Given the description of an element on the screen output the (x, y) to click on. 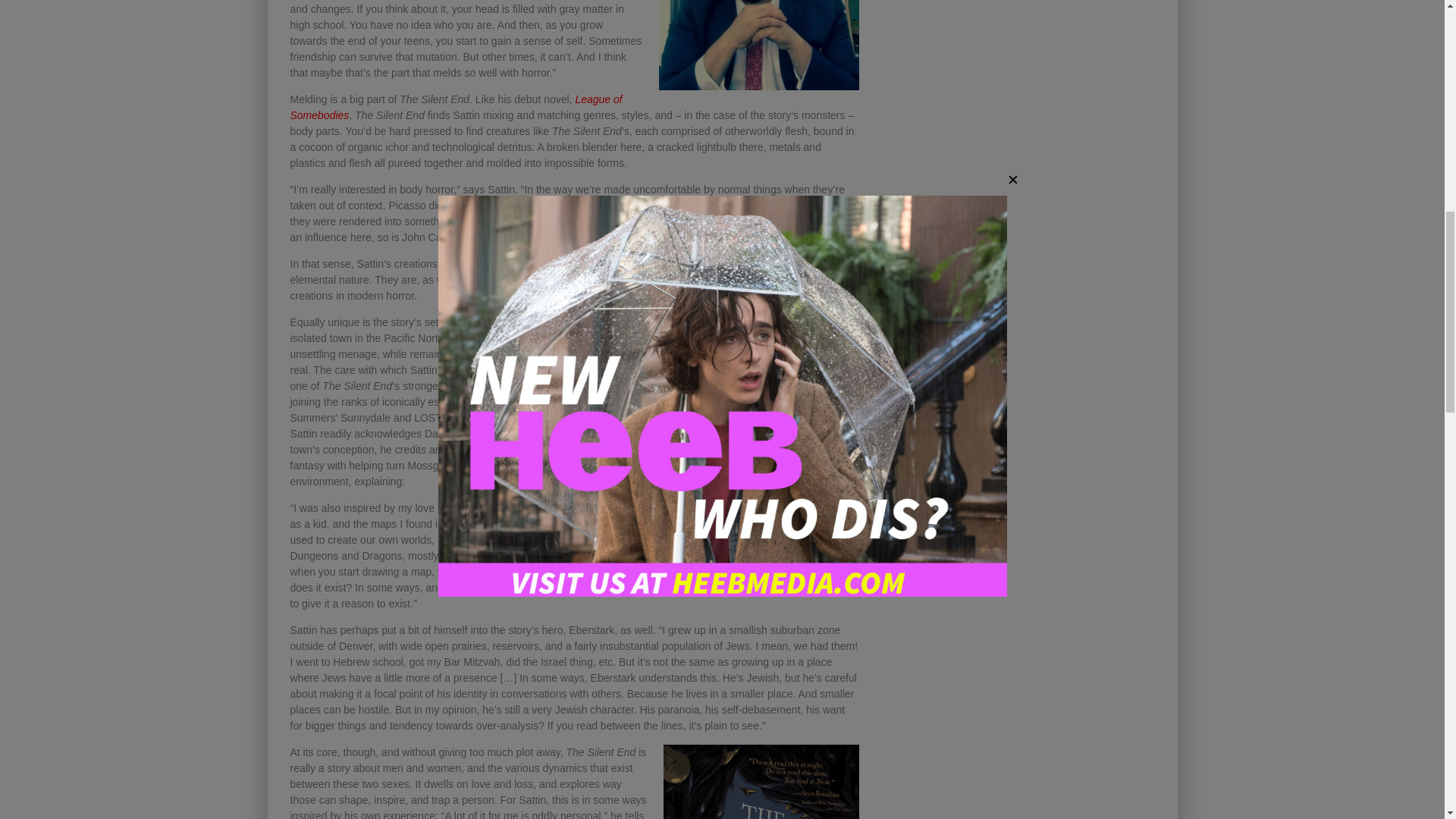
League of Somebodies (455, 107)
